Given the description of an element on the screen output the (x, y) to click on. 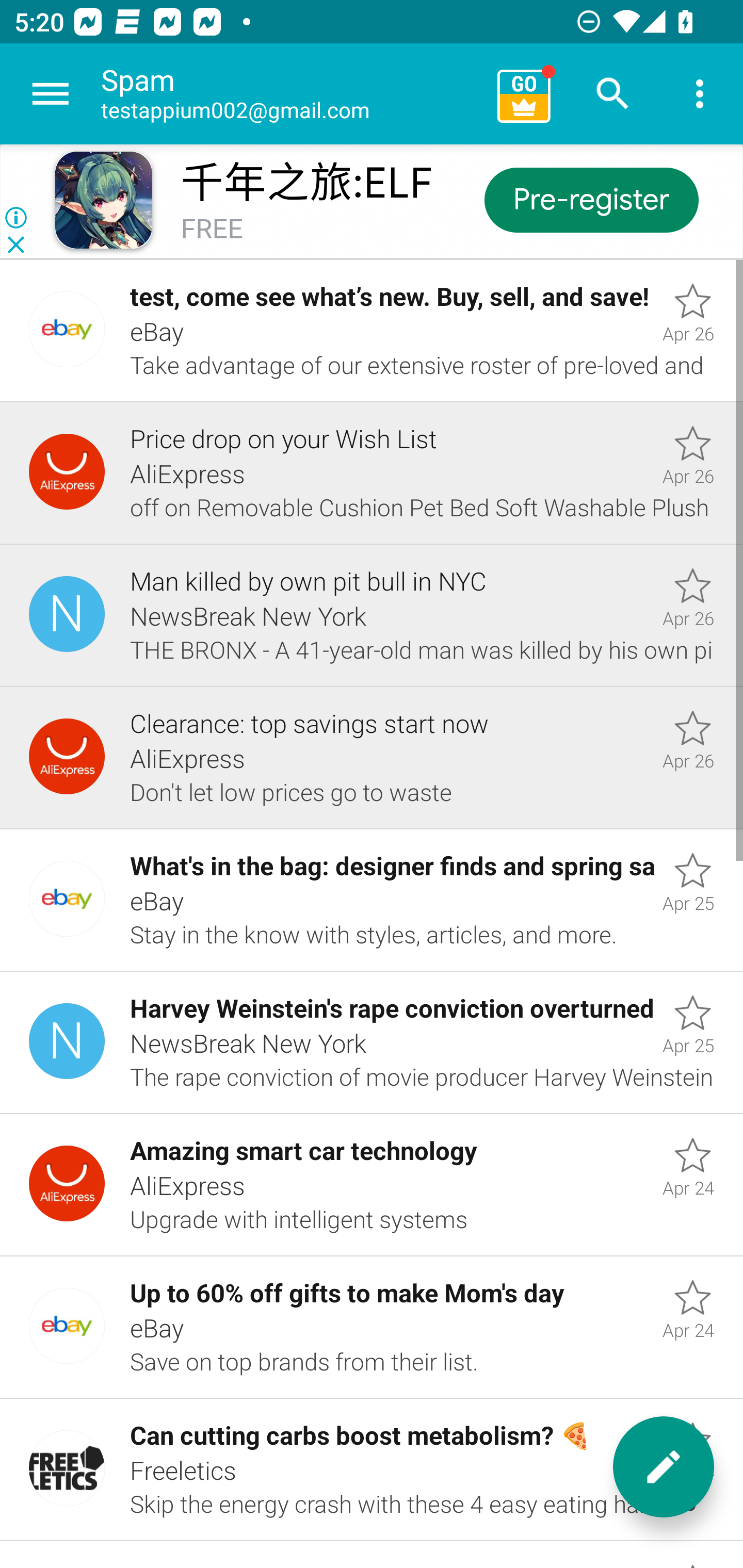
Navigate up (50, 93)
Spam testappium002@gmail.com (291, 93)
Search (612, 93)
More options (699, 93)
New message (663, 1466)
